Given the description of an element on the screen output the (x, y) to click on. 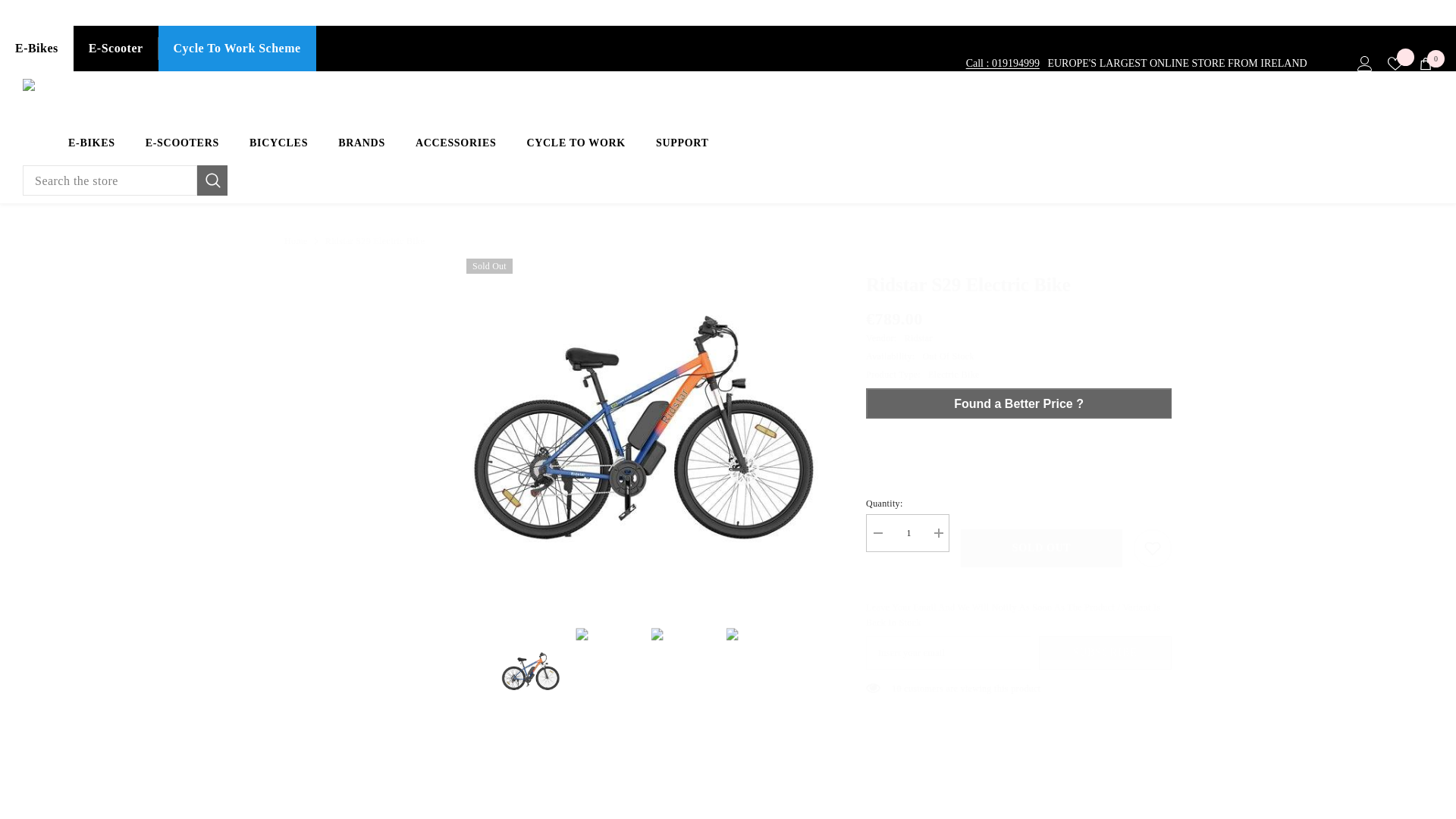
Add to wishlist (1153, 548)
We Deliver In Just 5-10 Working Days across Europe (129, 12)
Log in (1364, 63)
Wish Lists (1395, 63)
E-Scooter (116, 48)
Call : 019194999 (1002, 63)
SOLD OUT (1425, 63)
